Given the description of an element on the screen output the (x, y) to click on. 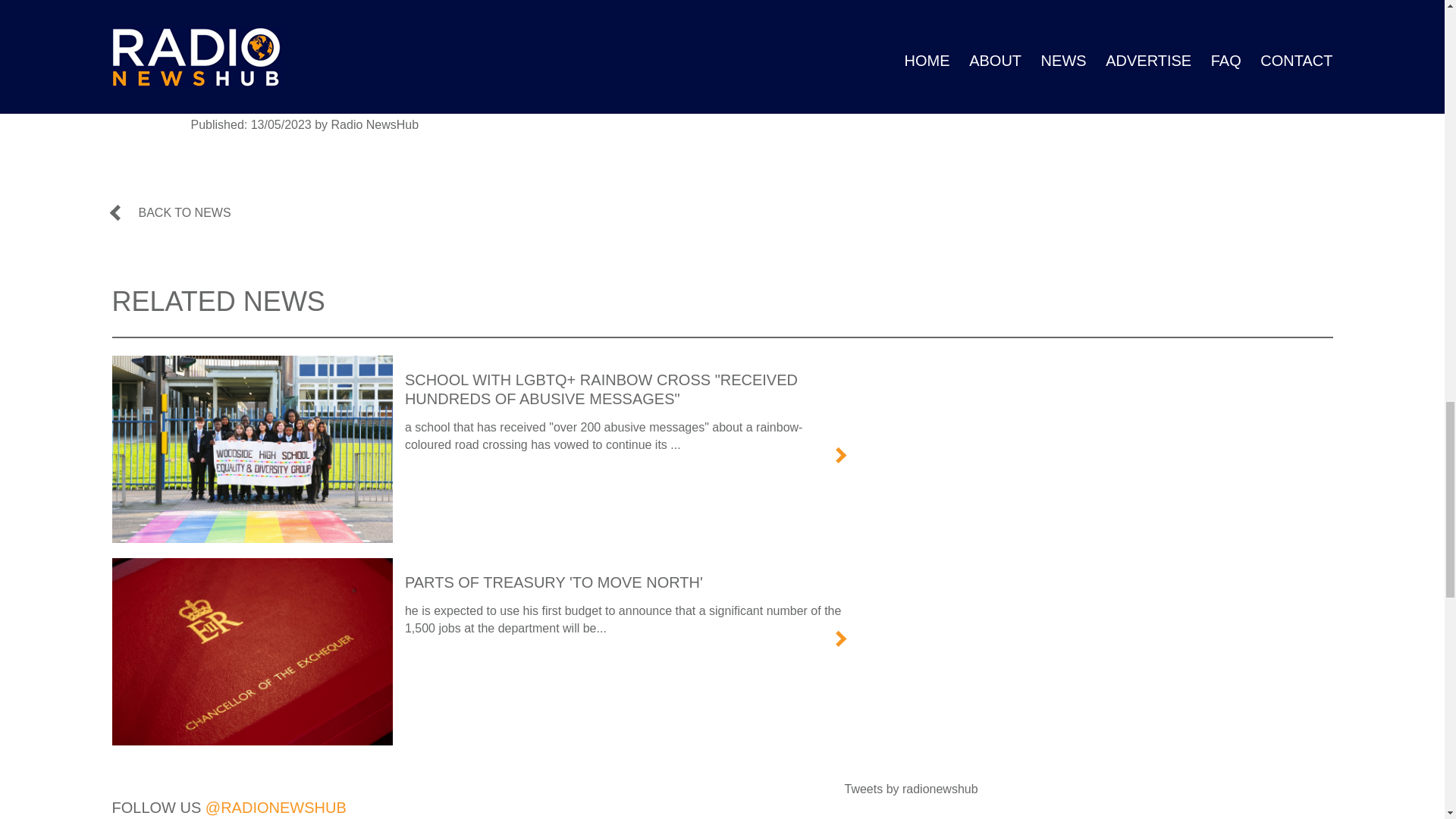
BACK TO NEWS (171, 213)
Tweets by radionewshub (911, 788)
